Given the description of an element on the screen output the (x, y) to click on. 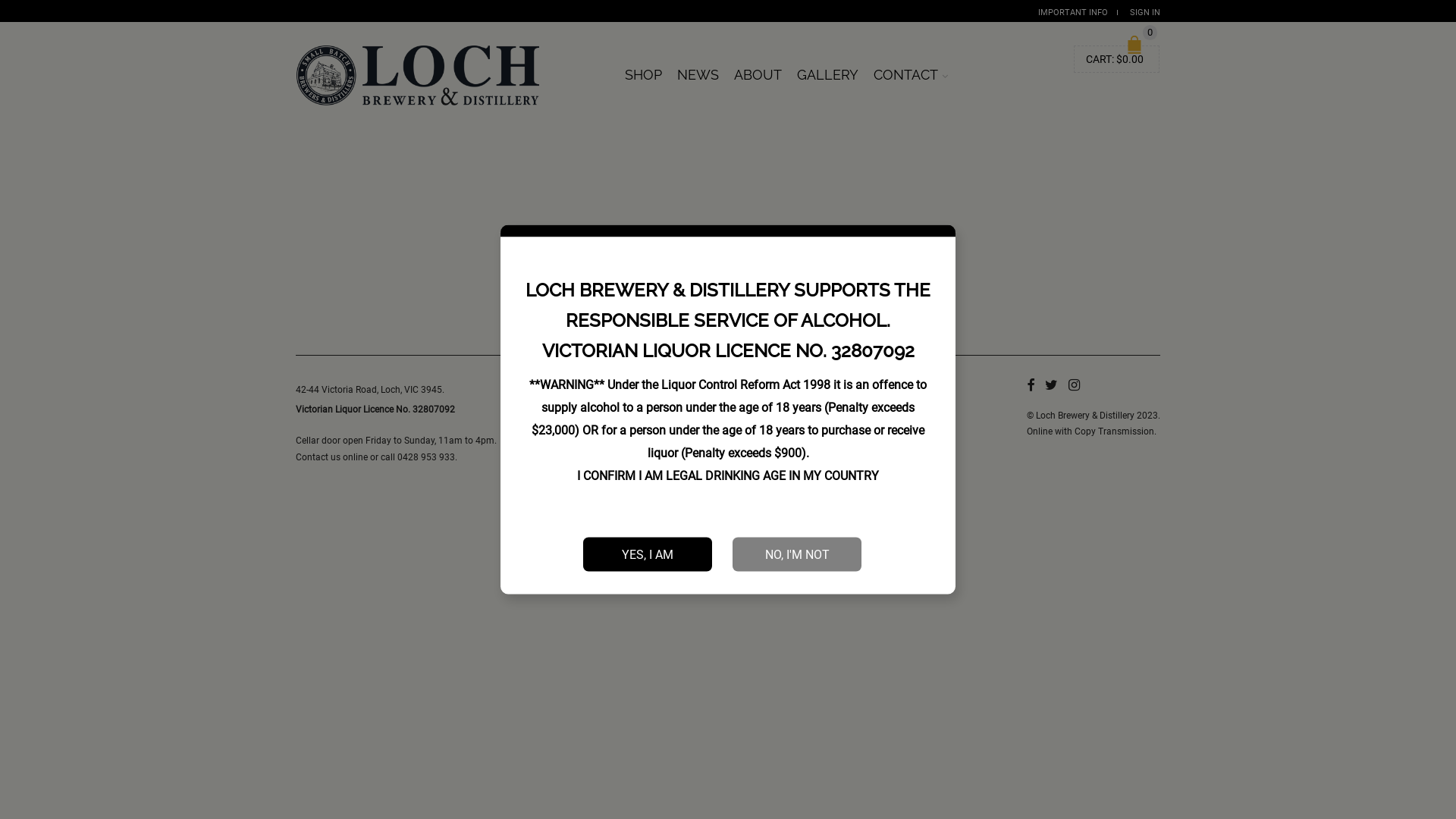
YES, I AM Element type: text (647, 553)
GALLERY Element type: text (827, 74)
online Element type: text (354, 456)
NO, I'M NOT Element type: text (796, 553)
Copy Transmission Element type: text (1114, 431)
SIGN IN Element type: text (1144, 12)
RETURN TO SHOP Element type: text (727, 286)
NO, I'M NOT Element type: text (796, 553)
Login Element type: text (1127, 220)
NEWS Element type: text (697, 74)
CONTACT Element type: text (910, 74)
ABOUT Element type: text (757, 74)
SHOP Element type: text (643, 74)
IMPORTANT INFO Element type: text (1072, 12)
BOOKINGS Element type: text (962, 67)
